Given the description of an element on the screen output the (x, y) to click on. 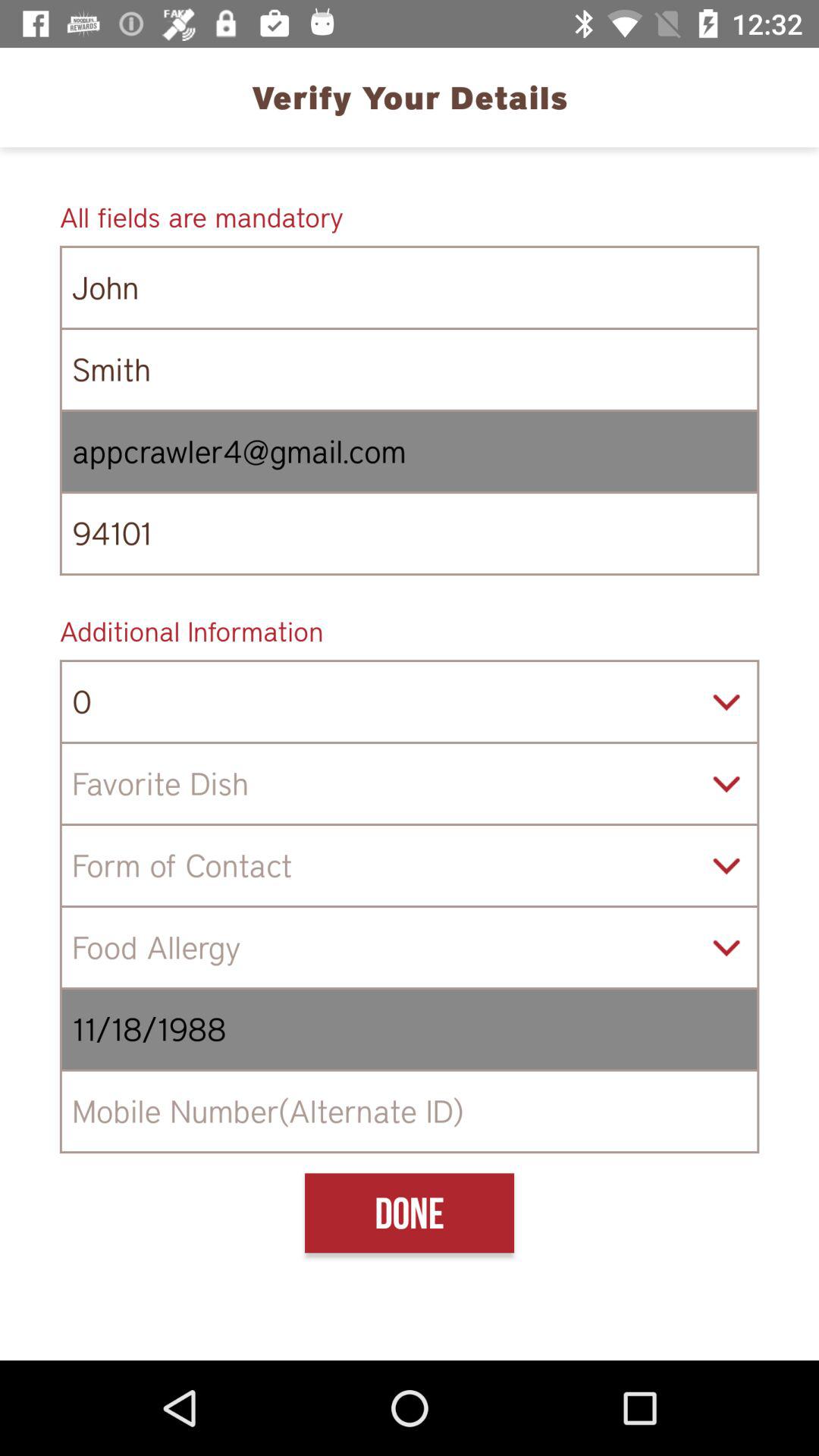
scroll until all fields are icon (409, 217)
